Given the description of an element on the screen output the (x, y) to click on. 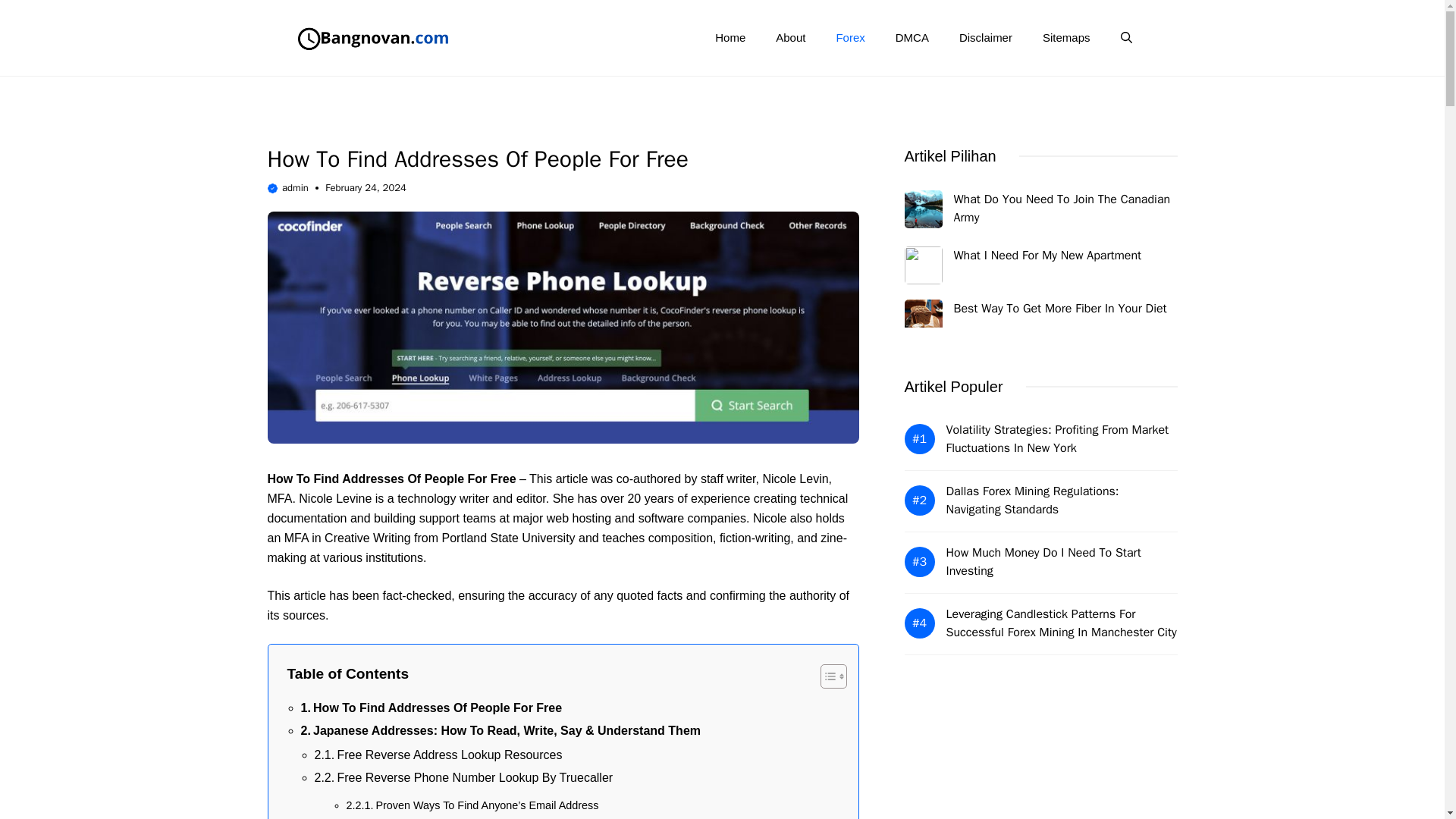
Free Reverse Phone Number Lookup By Truecaller (463, 777)
Sitemaps (1066, 37)
Disclaimer (985, 37)
Forex (850, 37)
Free Reverse Address Lookup Resources (438, 754)
About (790, 37)
Free Reverse Phone Number Lookup By Truecaller (463, 777)
How To Find Addresses Of People For Free (430, 708)
What Do You Need To Join The Canadian Army (1061, 208)
How To Find Addresses Of People For Free (430, 708)
